Given the description of an element on the screen output the (x, y) to click on. 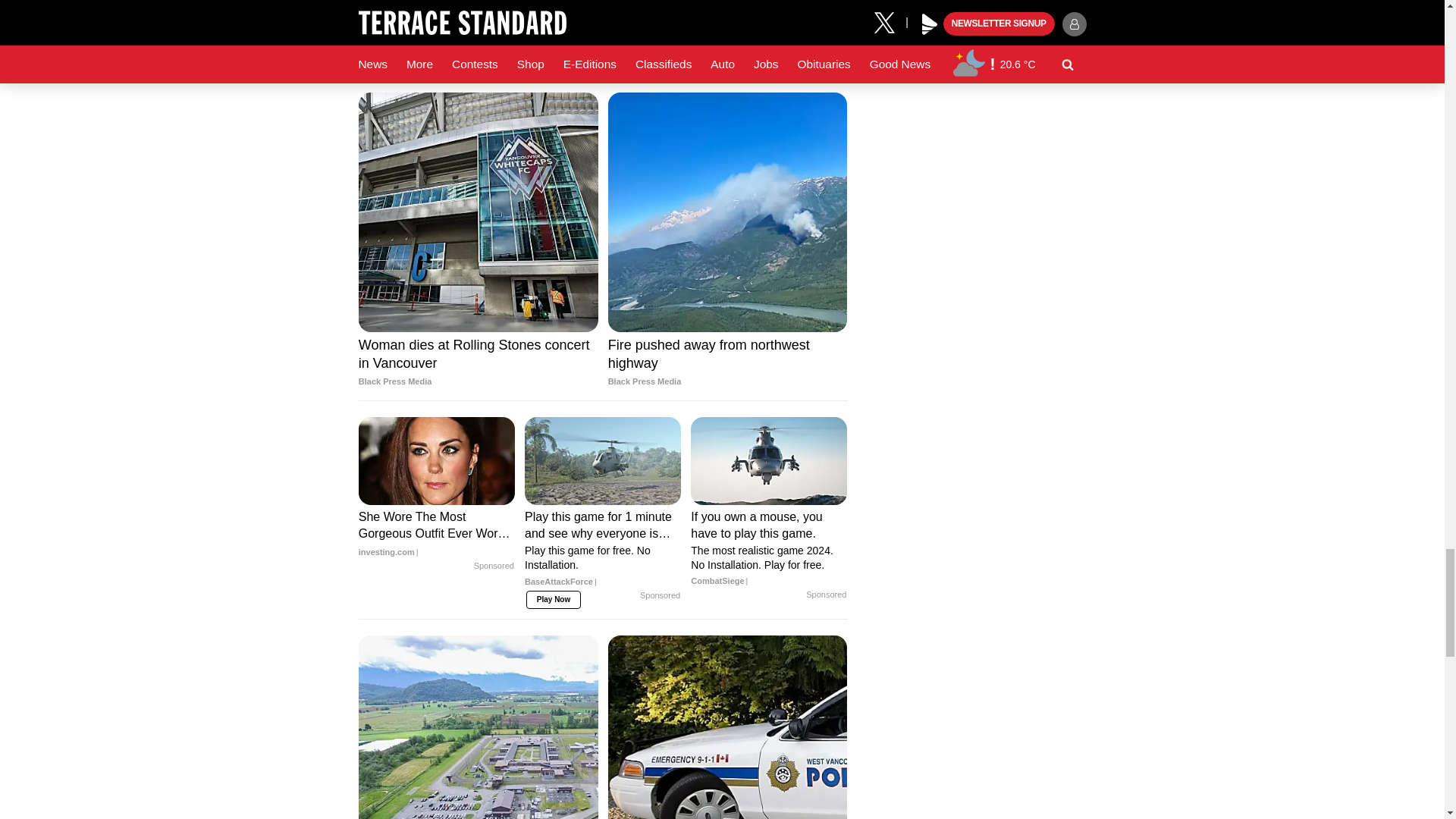
Show Comments (602, 25)
